Given the description of an element on the screen output the (x, y) to click on. 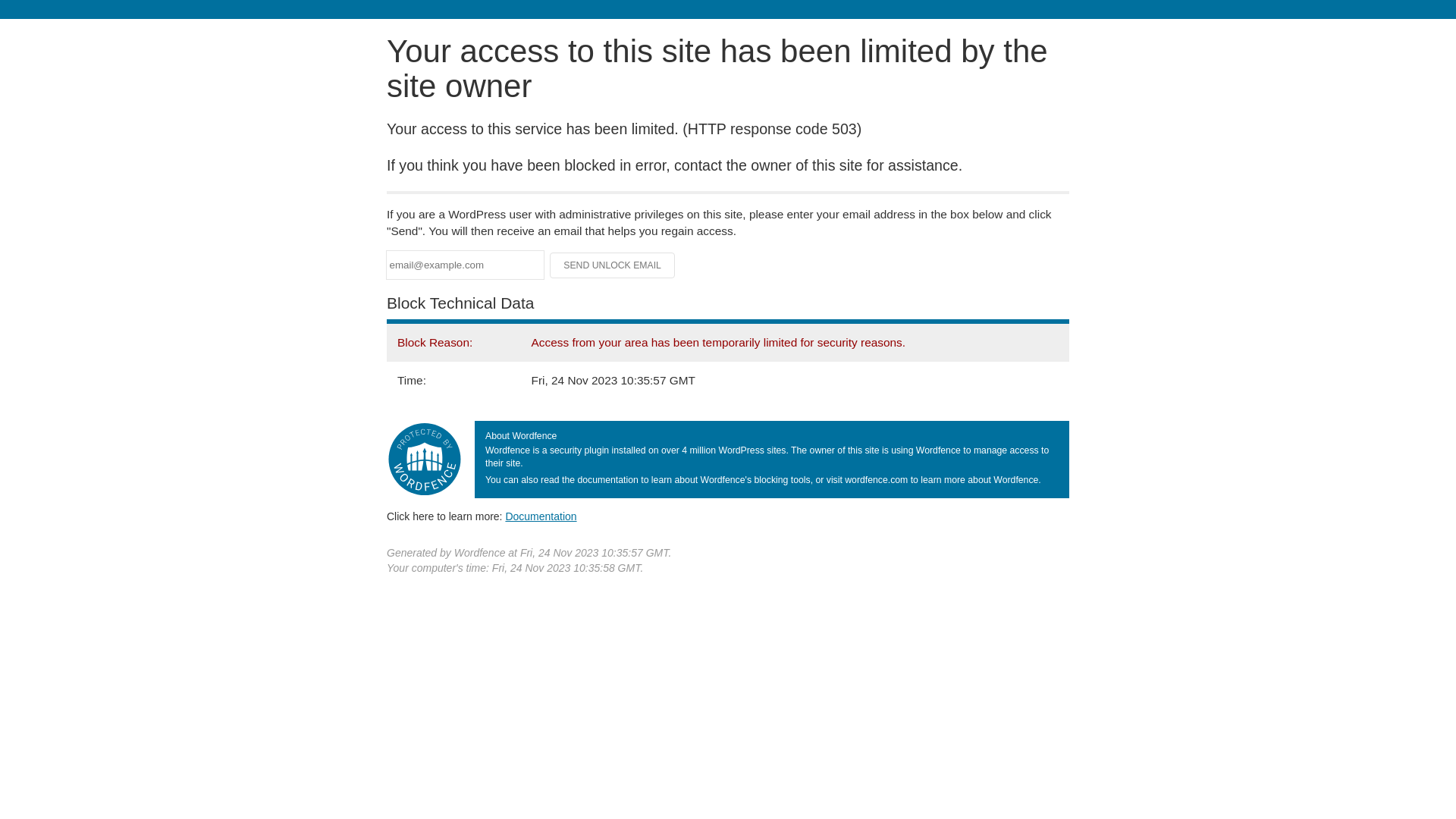
Documentation Element type: text (540, 516)
Send Unlock Email Element type: text (612, 265)
